Given the description of an element on the screen output the (x, y) to click on. 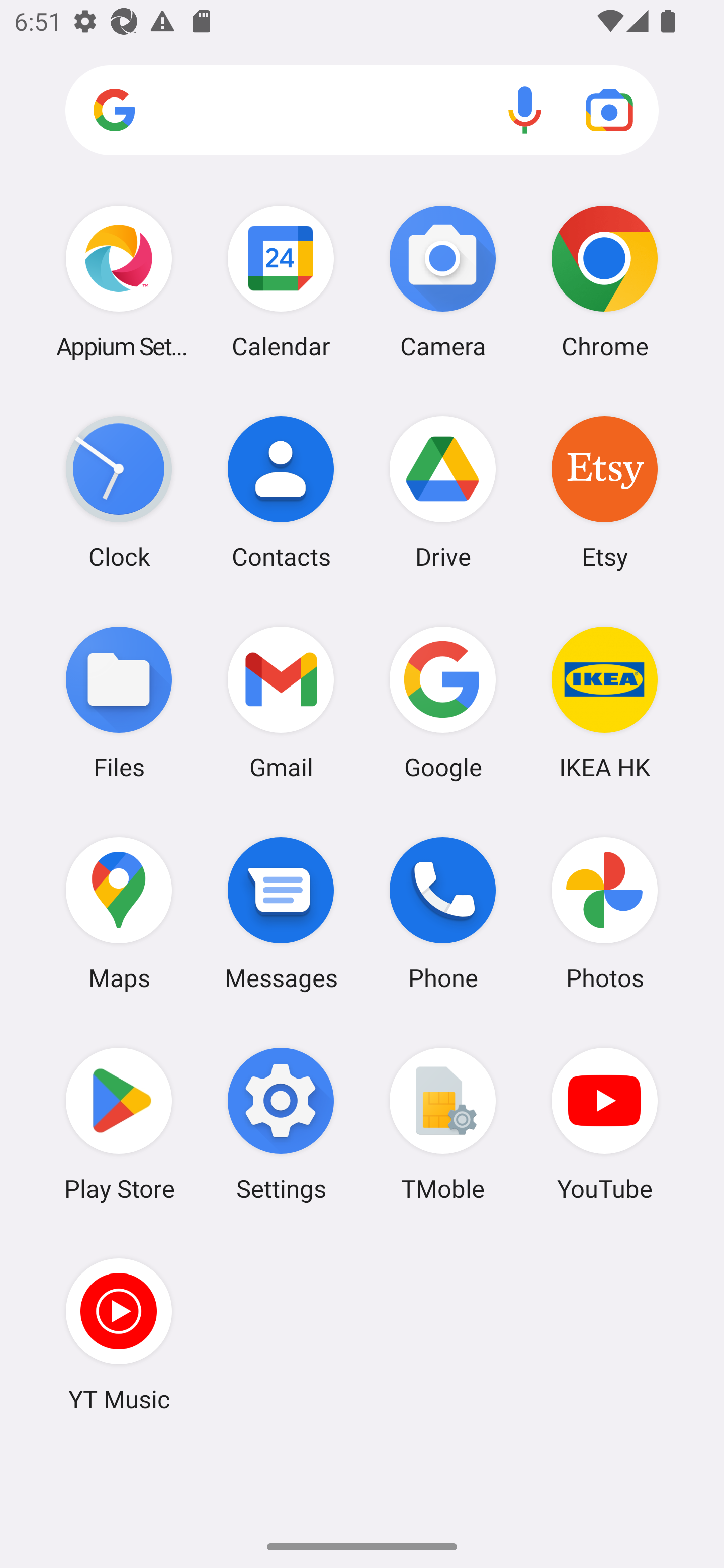
Search apps, web and more (361, 110)
Voice search (524, 109)
Google Lens (608, 109)
Appium Settings (118, 281)
Calendar (280, 281)
Camera (443, 281)
Chrome (604, 281)
Clock (118, 492)
Contacts (280, 492)
Drive (443, 492)
Etsy (604, 492)
Files (118, 702)
Gmail (280, 702)
Google (443, 702)
IKEA HK (604, 702)
Maps (118, 913)
Messages (280, 913)
Phone (443, 913)
Photos (604, 913)
Play Store (118, 1124)
Settings (280, 1124)
TMoble (443, 1124)
YouTube (604, 1124)
YT Music (118, 1334)
